Given the description of an element on the screen output the (x, y) to click on. 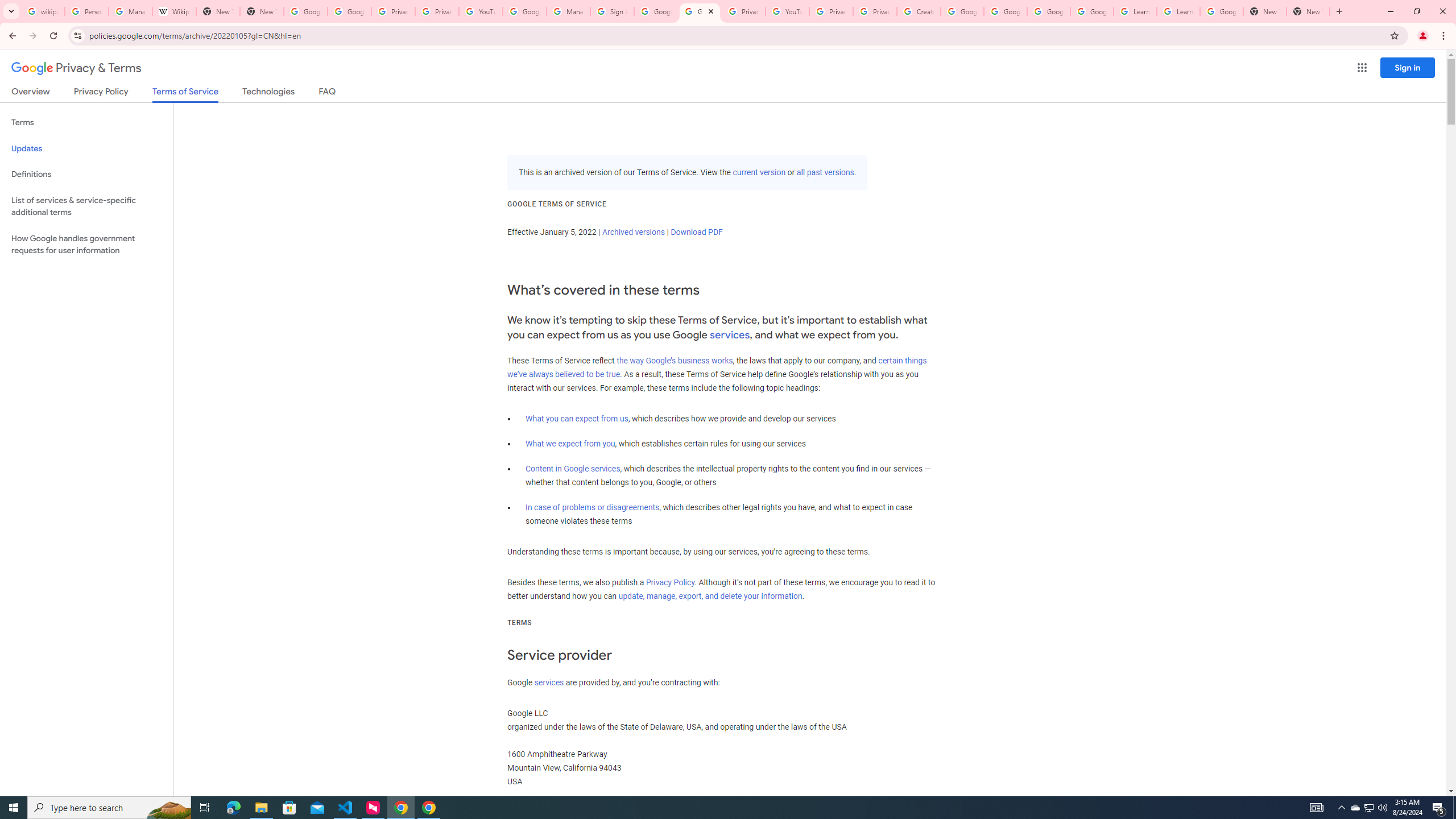
YouTube (786, 11)
New Tab (1264, 11)
What we expect from you (570, 443)
Google Account Help (524, 11)
